Given the description of an element on the screen output the (x, y) to click on. 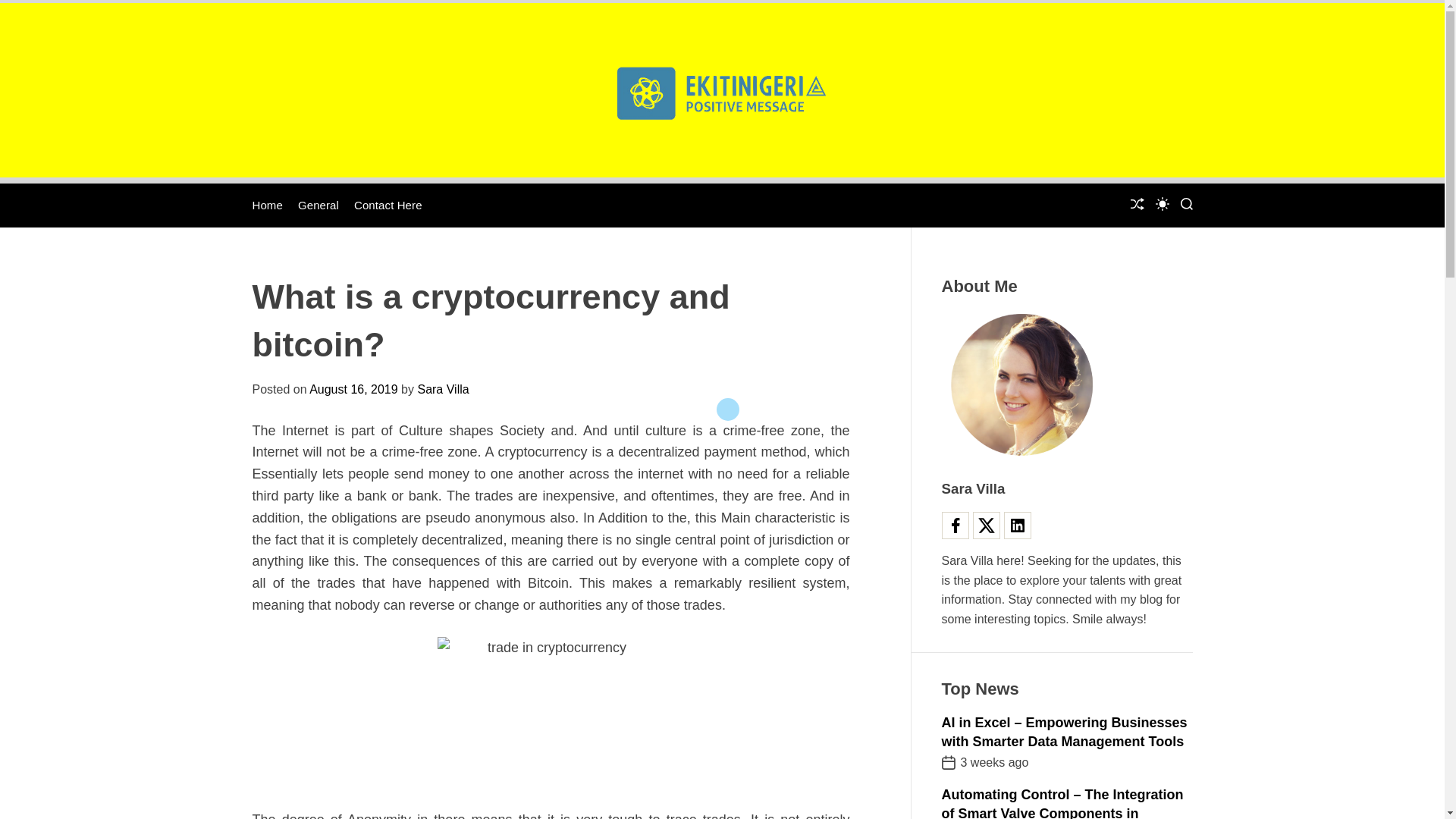
General (318, 205)
Home (266, 205)
August 16, 2019 (352, 389)
Contact Here (387, 205)
Sara Villa (442, 389)
SWITCH COLOR MODE (1162, 203)
